Given the description of an element on the screen output the (x, y) to click on. 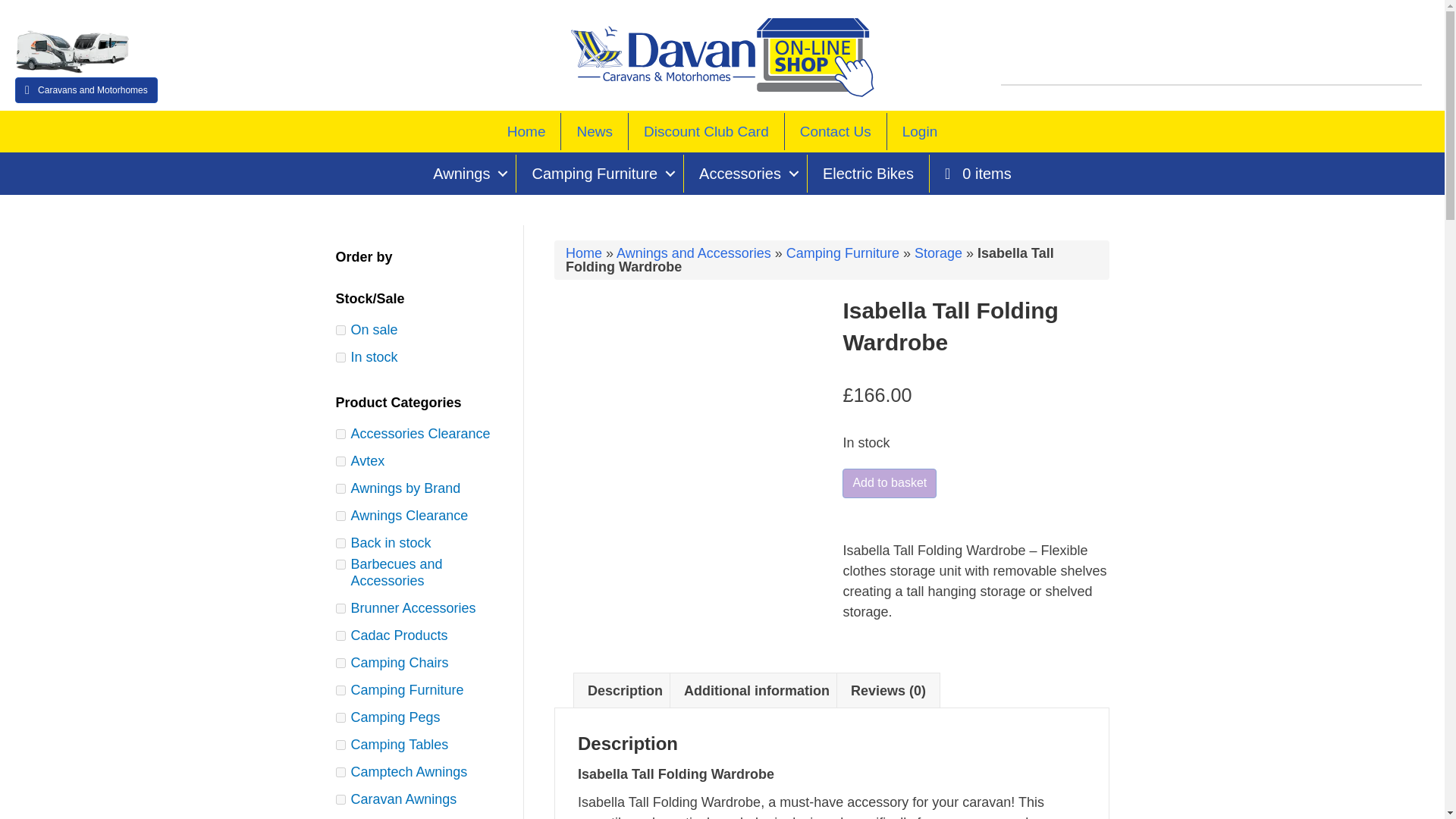
1 (339, 357)
caravan-awnings (339, 799)
camping-pegs (339, 717)
camping-furniture (339, 690)
Home (526, 131)
Caravan and motorhome dealers somerset (71, 51)
back-in-stock (339, 542)
barbecues-and-accessories (339, 564)
cadac-products (339, 635)
camping-chairs (339, 663)
Caravans and Motorhomes (85, 89)
accessories-clearance (339, 433)
1 (339, 329)
awnings-clearance (339, 515)
Start shopping (978, 173)
